Given the description of an element on the screen output the (x, y) to click on. 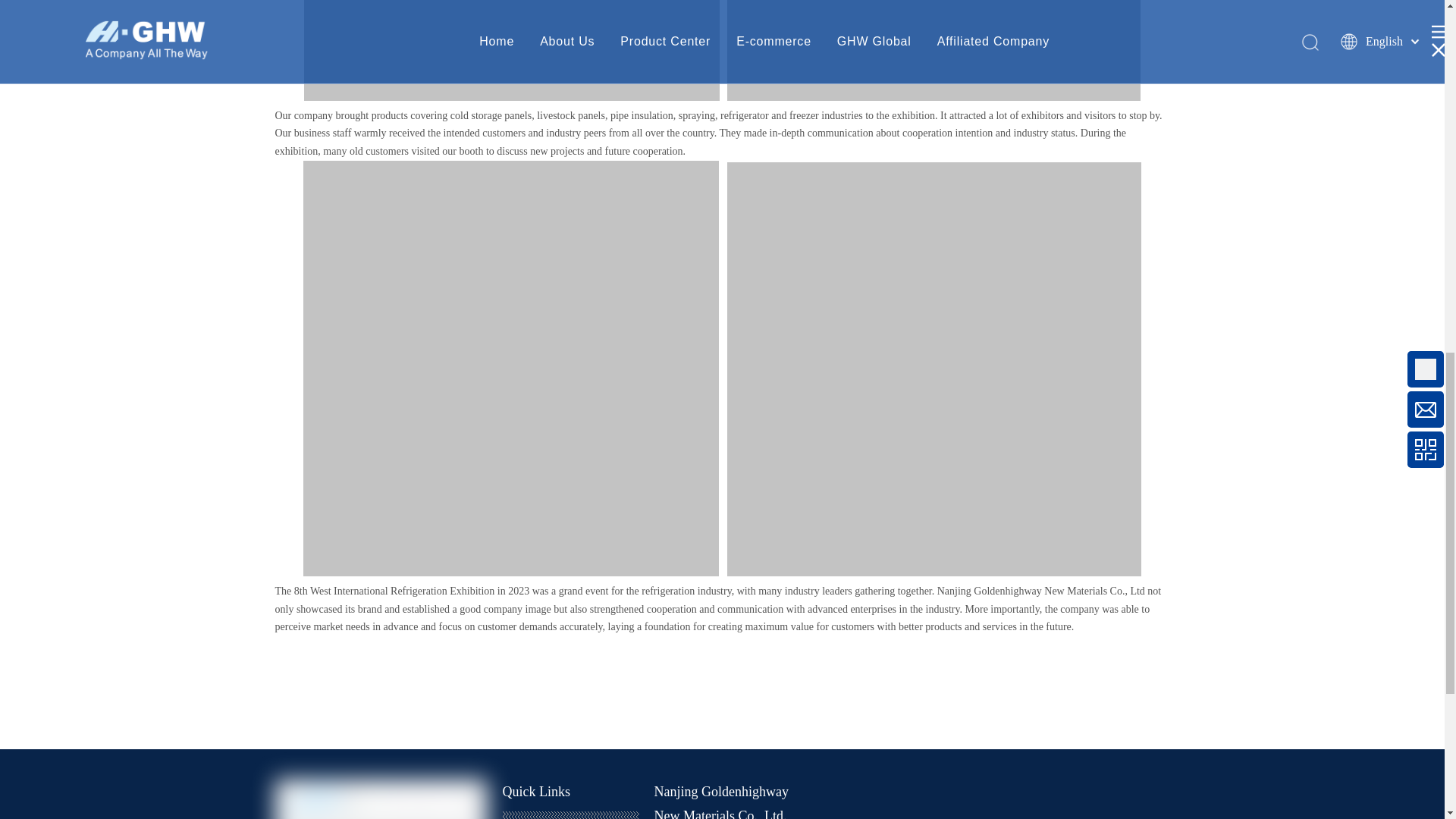
News (521, 818)
News (521, 818)
